Given the description of an element on the screen output the (x, y) to click on. 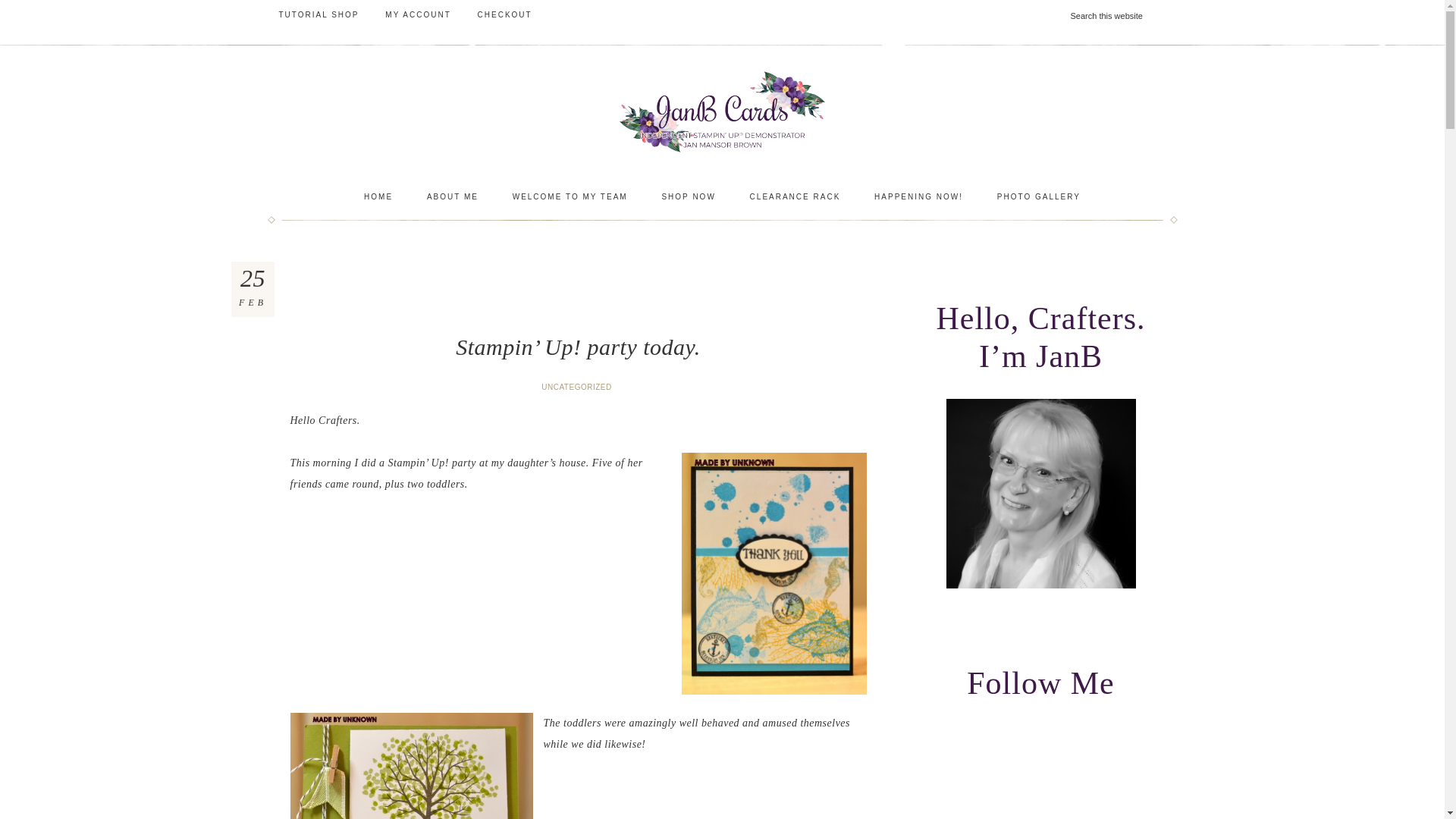
HAPPENING NOW! (918, 197)
UNCATEGORIZED (577, 387)
CHECKOUT (504, 15)
MY ACCOUNT (418, 15)
ABOUT ME (452, 197)
PHOTO GALLERY (1038, 197)
WELCOME TO MY TEAM (570, 197)
SHOP NOW (688, 197)
TUTORIAL SHOP (317, 15)
HOME (378, 197)
CLEARANCE RACK (795, 197)
JANB CARDS (721, 111)
